Given the description of an element on the screen output the (x, y) to click on. 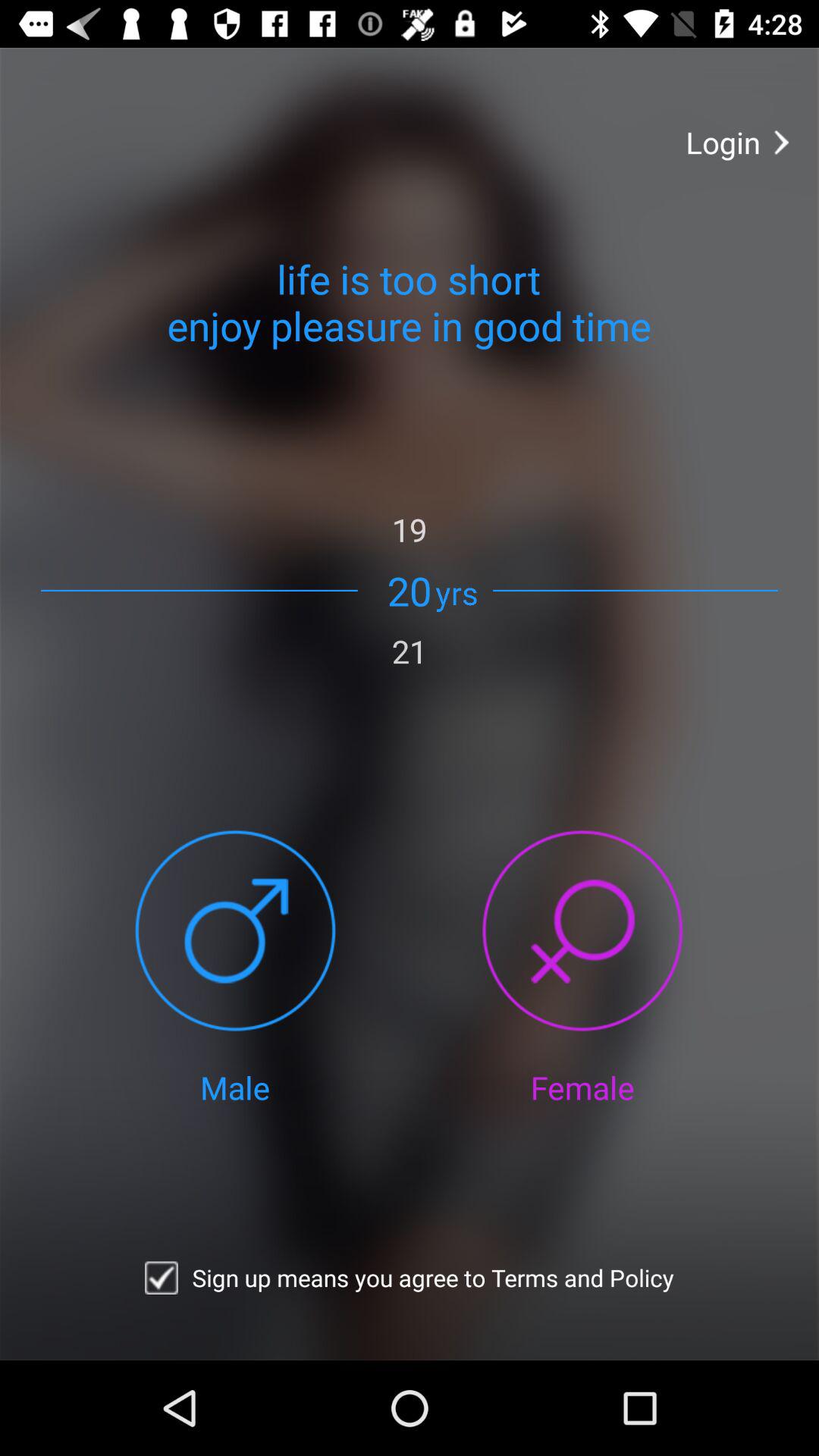
confirm (161, 1277)
